Given the description of an element on the screen output the (x, y) to click on. 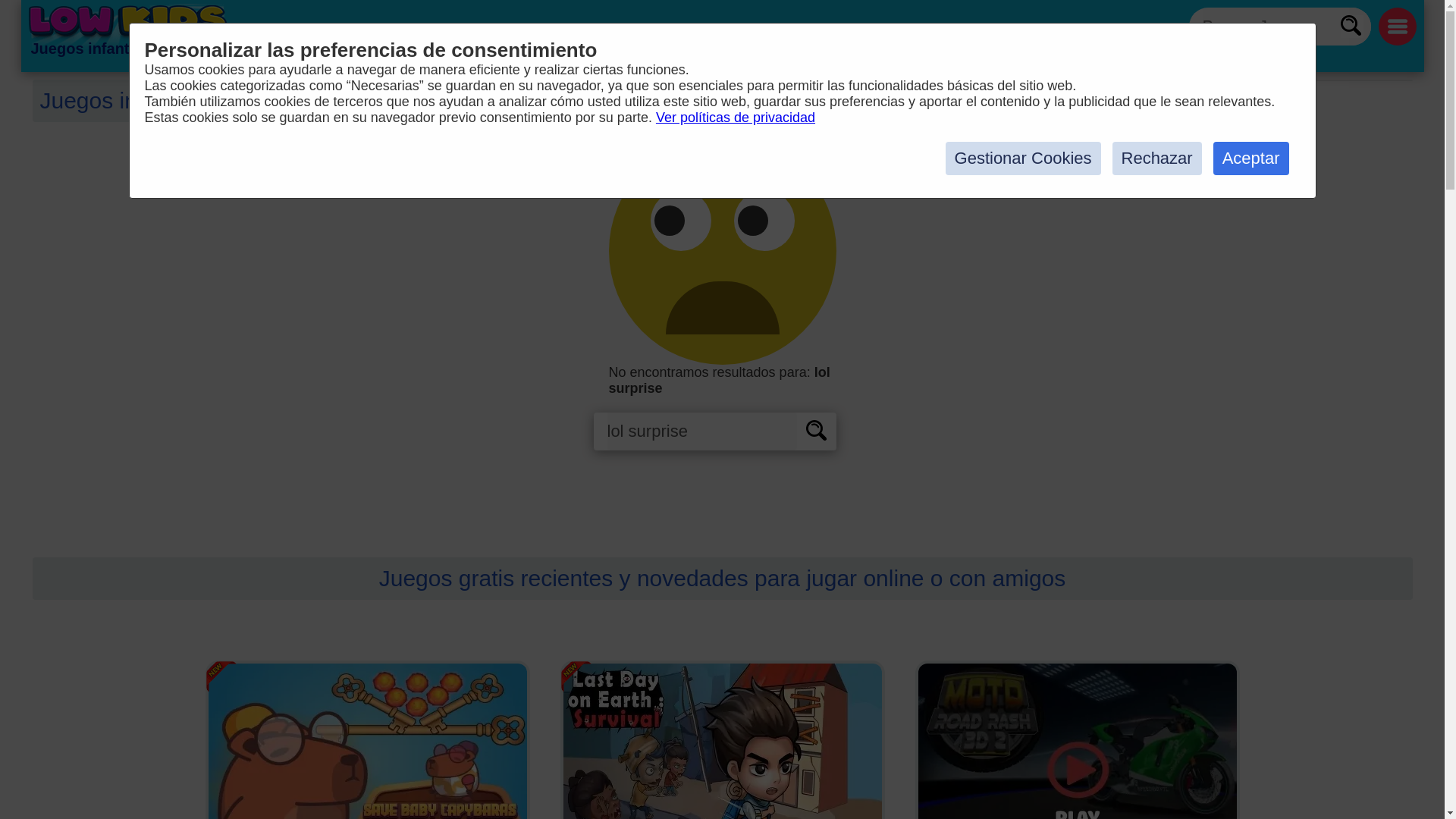
Moto Road Rash 3D 2 (1076, 739)
Rechazar (1157, 158)
Gestionar Cookies (1022, 158)
Moto Road Rash 3D 2 (1076, 739)
Save Baby Capybaras - Pull Pin (367, 739)
Last Day On Earth Survival (721, 739)
Aceptar (1250, 158)
Save Baby Capybaras - Pull Pin (367, 739)
